Given the description of an element on the screen output the (x, y) to click on. 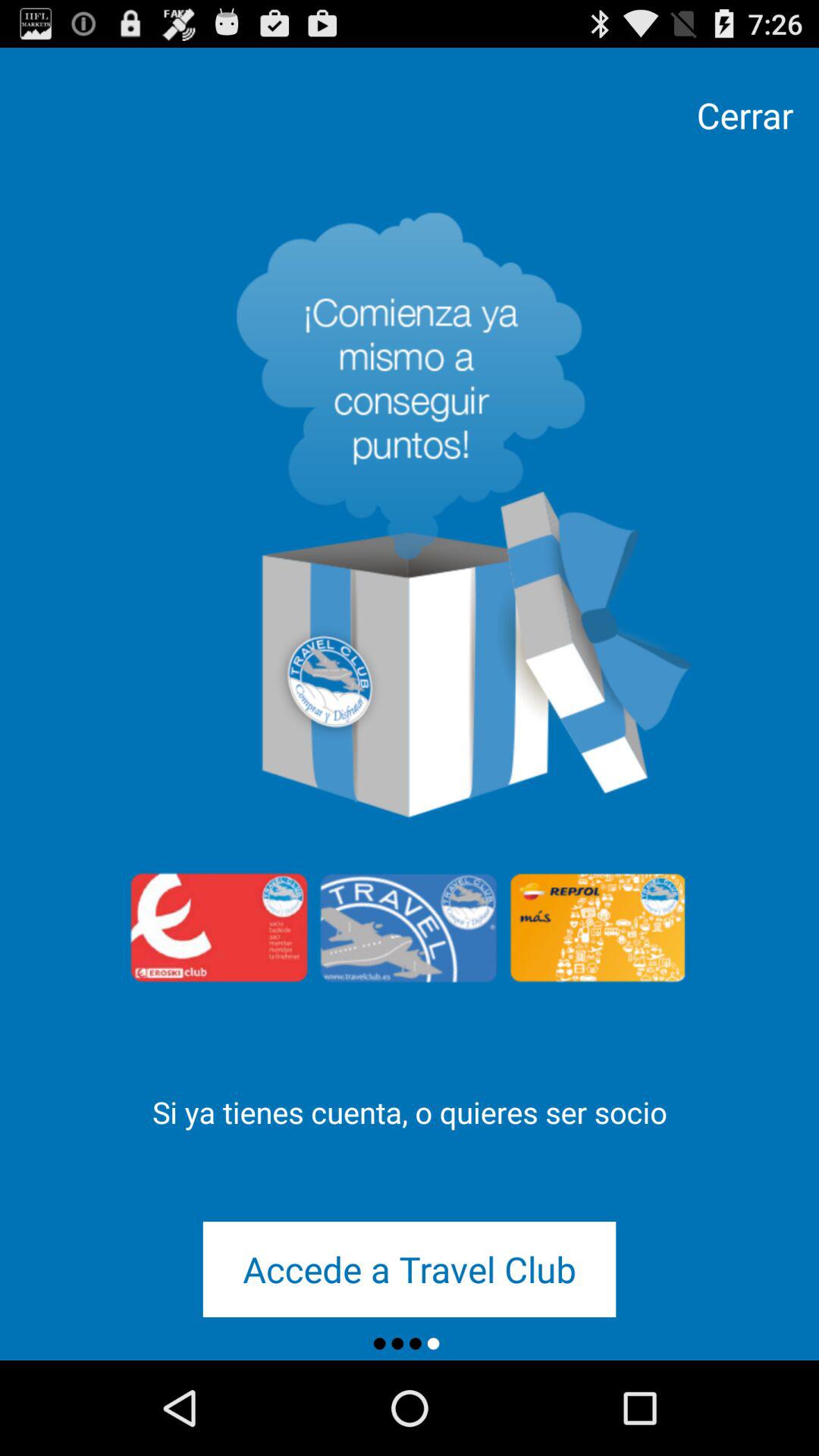
turn off the accede a travel icon (409, 1269)
